Given the description of an element on the screen output the (x, y) to click on. 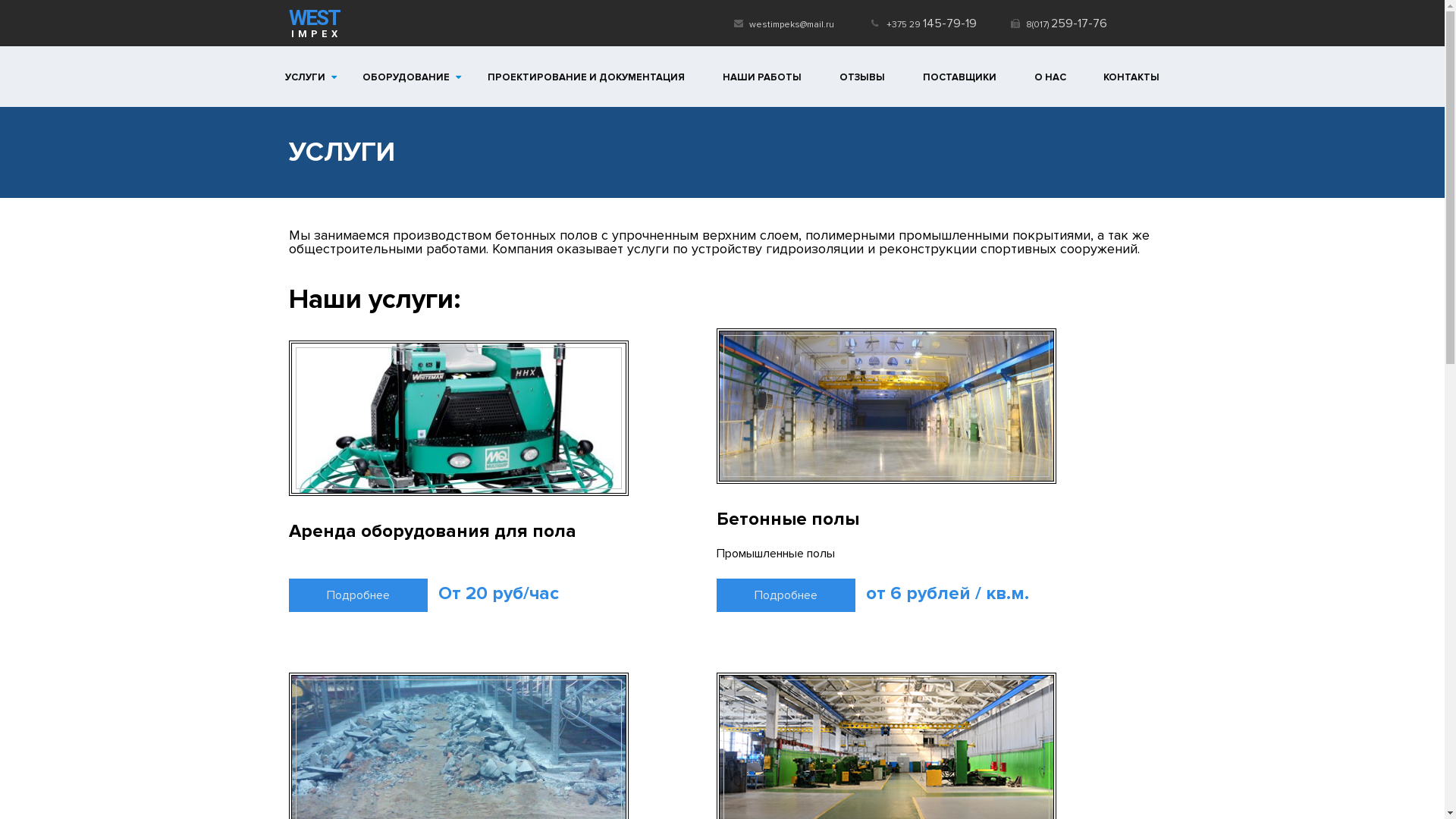
8(017) 259-17-76 Element type: text (1065, 22)
+375 29 145-79-19 Element type: text (930, 22)
WEST
IMPEX Element type: text (314, 22)
westimpeks@mail.ru  Element type: text (793, 22)
